Given the description of an element on the screen output the (x, y) to click on. 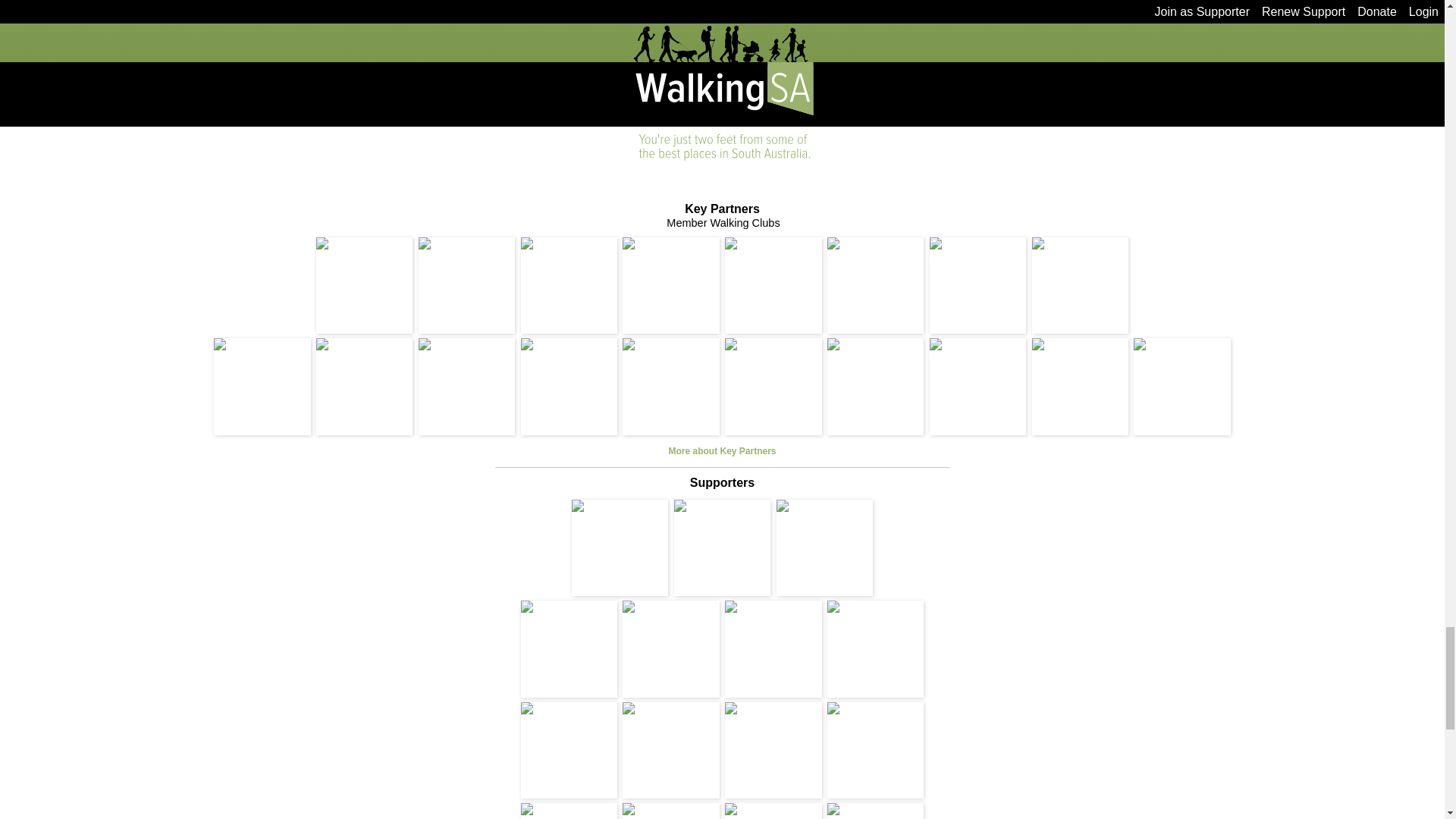
Find out more about Skyline Walkers (671, 285)
Find out more about Mount Gambier Bushwalkers (773, 386)
Find out more about Retired Teachers Walking Group (875, 386)
Find out more about Four Seasons Walking Group (467, 386)
Find out more about Kangaroo Island Walking Club (978, 386)
Find out more about Wise Women Walking (1080, 285)
Find out more about German Bushwalking Group (262, 386)
Find out more about Goannas Walking Group (569, 386)
Find out more about Friends of the Heysen Trail (363, 285)
Find out more about Adelaide Happy Wanderers (671, 386)
